Given the description of an element on the screen output the (x, y) to click on. 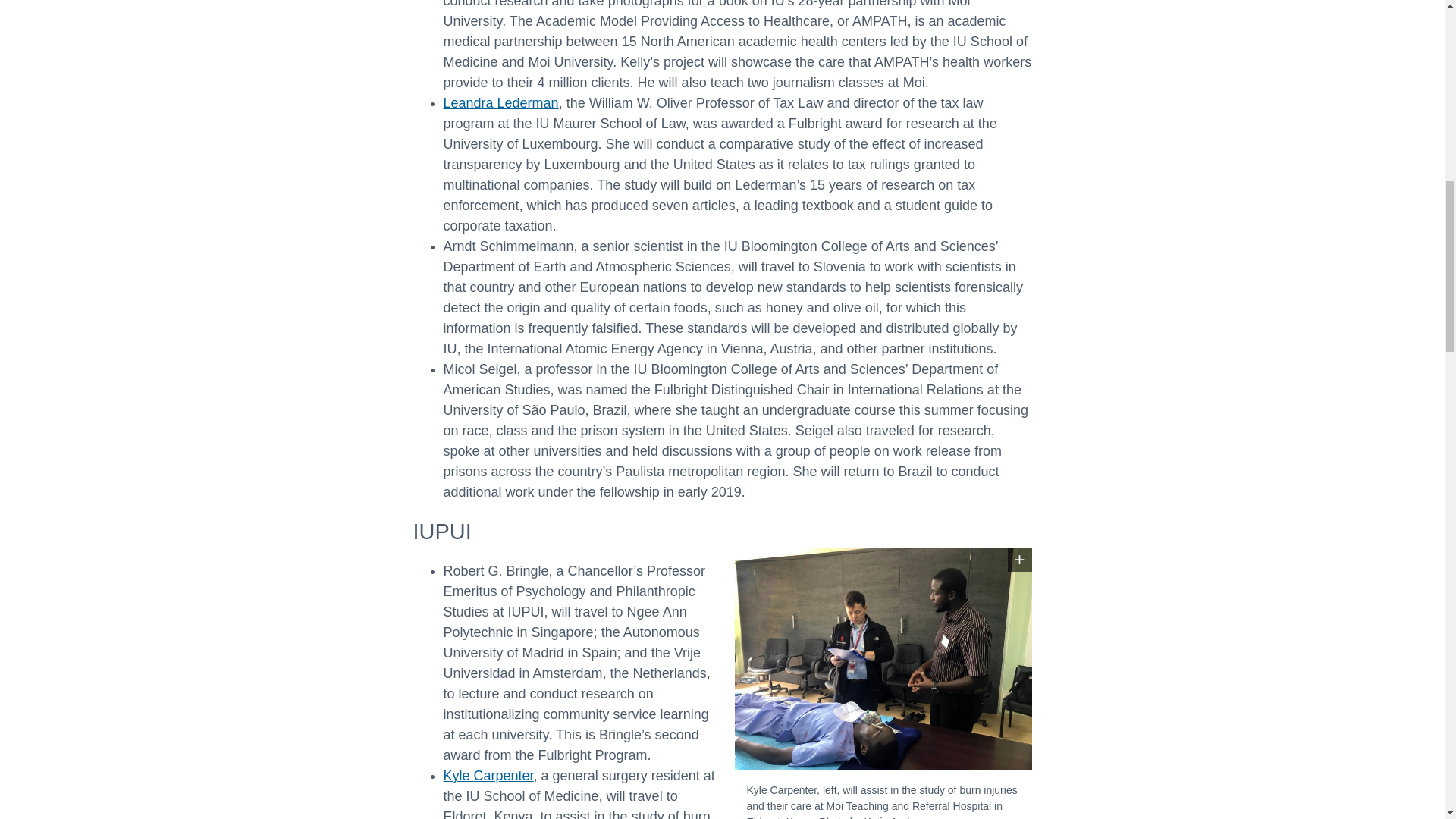
Leandra Lederman (499, 102)
Kyle Carpenter (487, 775)
Lederman faculty page (499, 102)
